Given the description of an element on the screen output the (x, y) to click on. 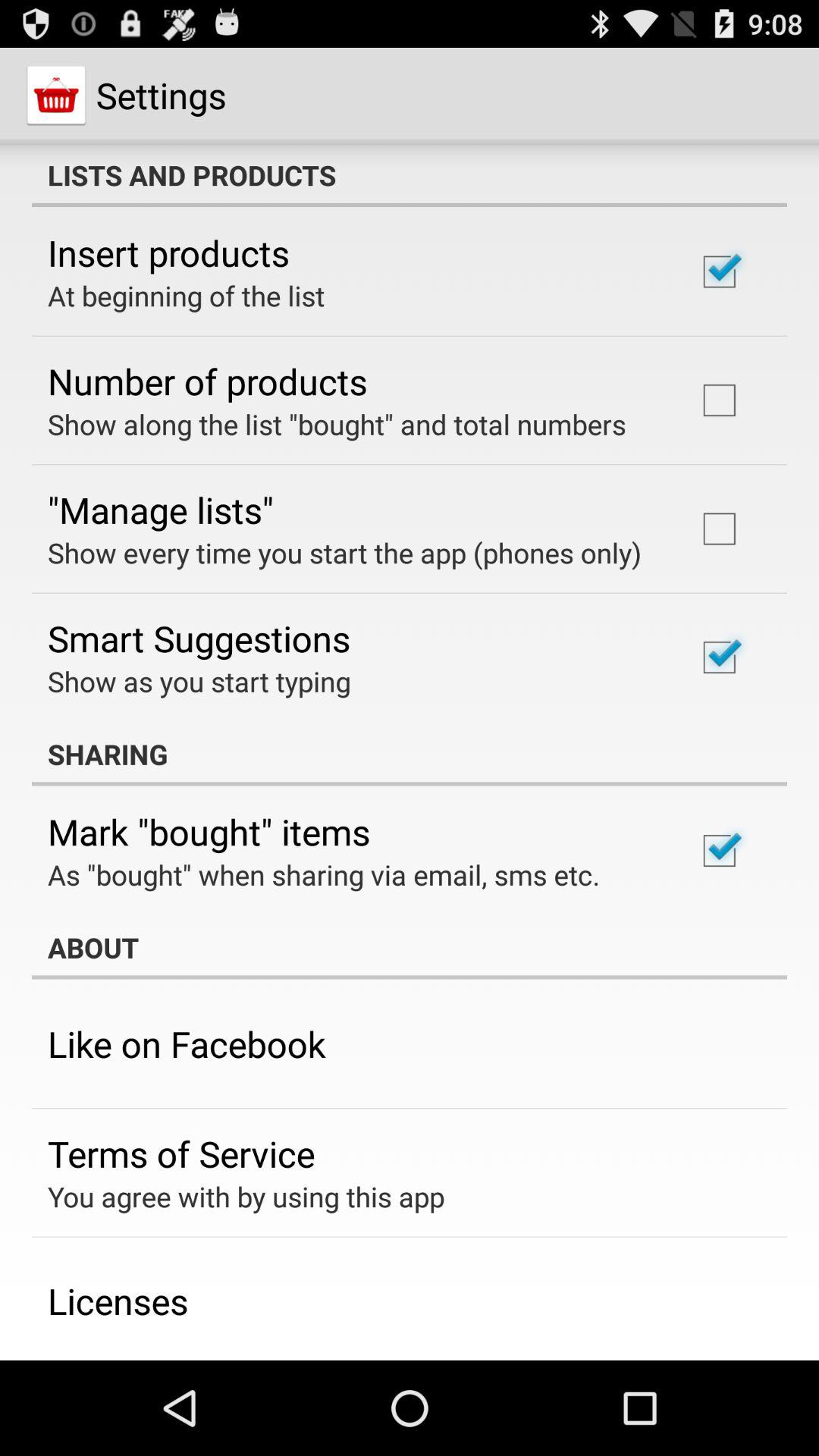
select you agree with item (245, 1196)
